Given the description of an element on the screen output the (x, y) to click on. 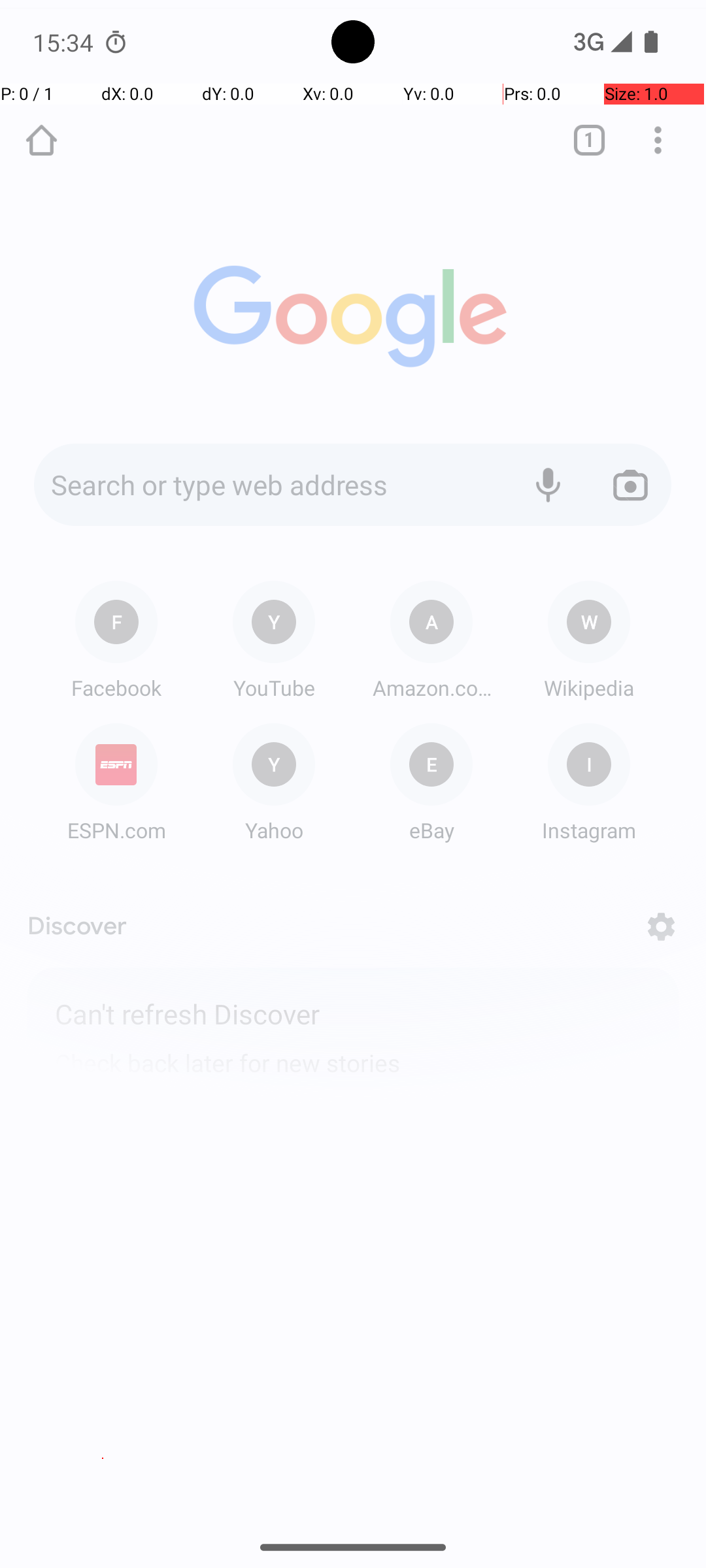
Can't refresh Discover Element type: android.widget.TextView (352, 1011)
Check back later for new stories Element type: android.widget.TextView (352, 1053)
